Given the description of an element on the screen output the (x, y) to click on. 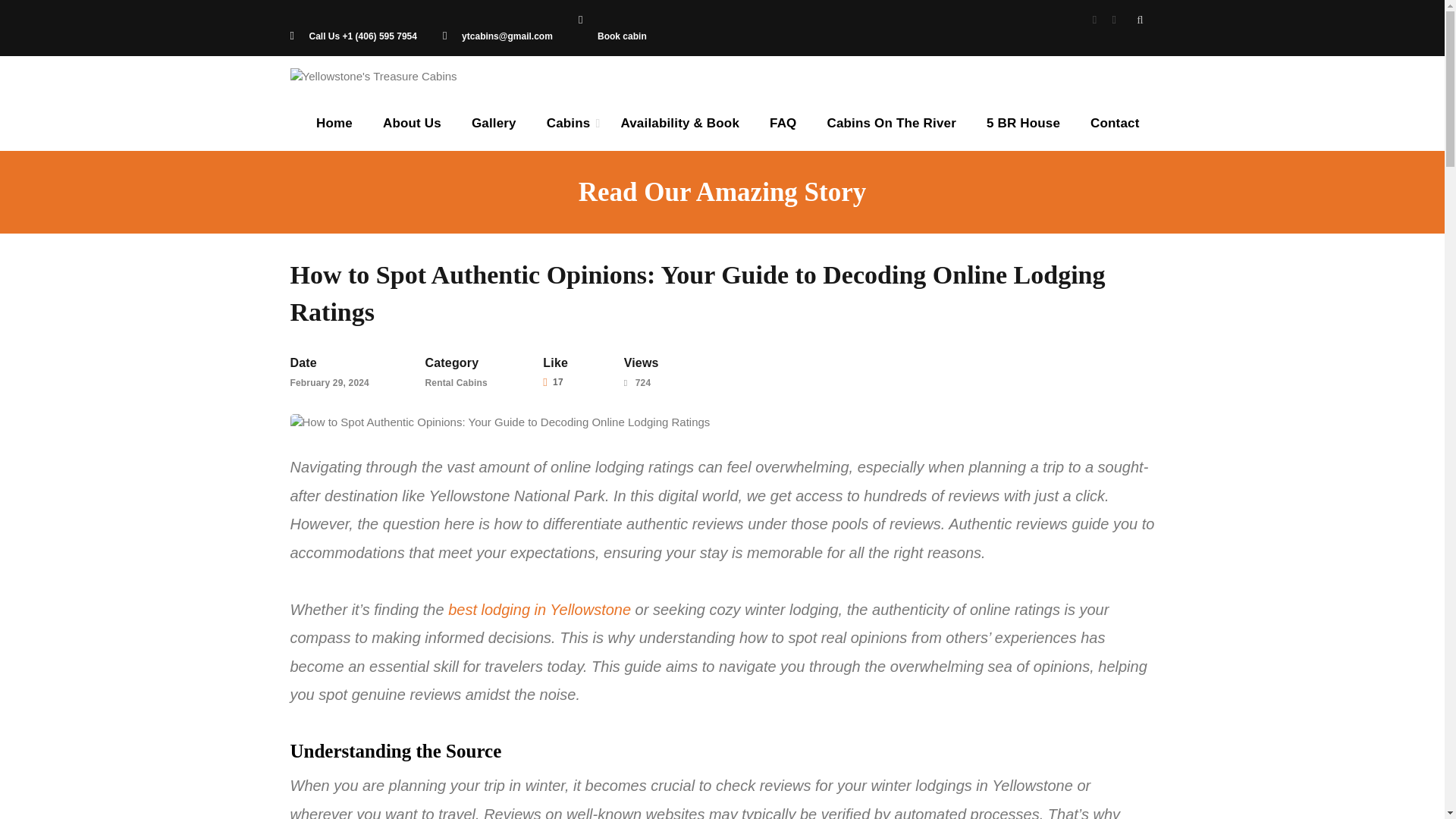
Rental Cabins (455, 382)
5 BR House (1023, 123)
FAQ (782, 123)
Cabins On The River (890, 123)
Gallery (494, 123)
17 (552, 382)
Frequently Asked Questions (782, 123)
Home (334, 123)
About Us (412, 123)
Book cabin (612, 29)
Cabins (568, 123)
Contact (1114, 123)
Cabins Near Yellowstone (568, 123)
best lodging in Yellowstone (539, 608)
Our Gallery (494, 123)
